Given the description of an element on the screen output the (x, y) to click on. 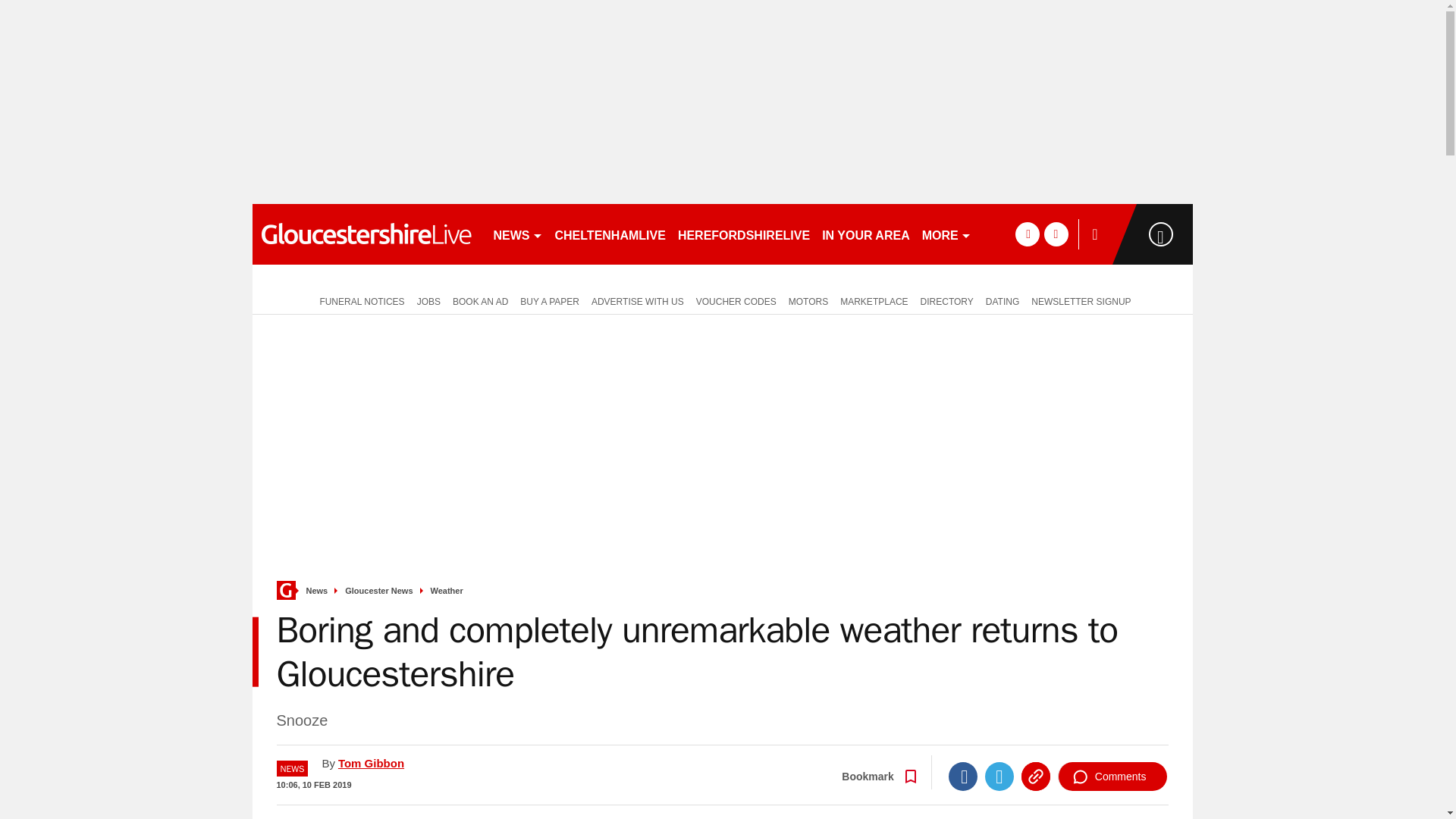
gloucestershirelive (365, 233)
Comments (1112, 776)
NEWS (517, 233)
twitter (1055, 233)
Twitter (999, 776)
IN YOUR AREA (865, 233)
Facebook (962, 776)
HEREFORDSHIRELIVE (743, 233)
MORE (945, 233)
facebook (1026, 233)
CHELTENHAMLIVE (609, 233)
